Given the description of an element on the screen output the (x, y) to click on. 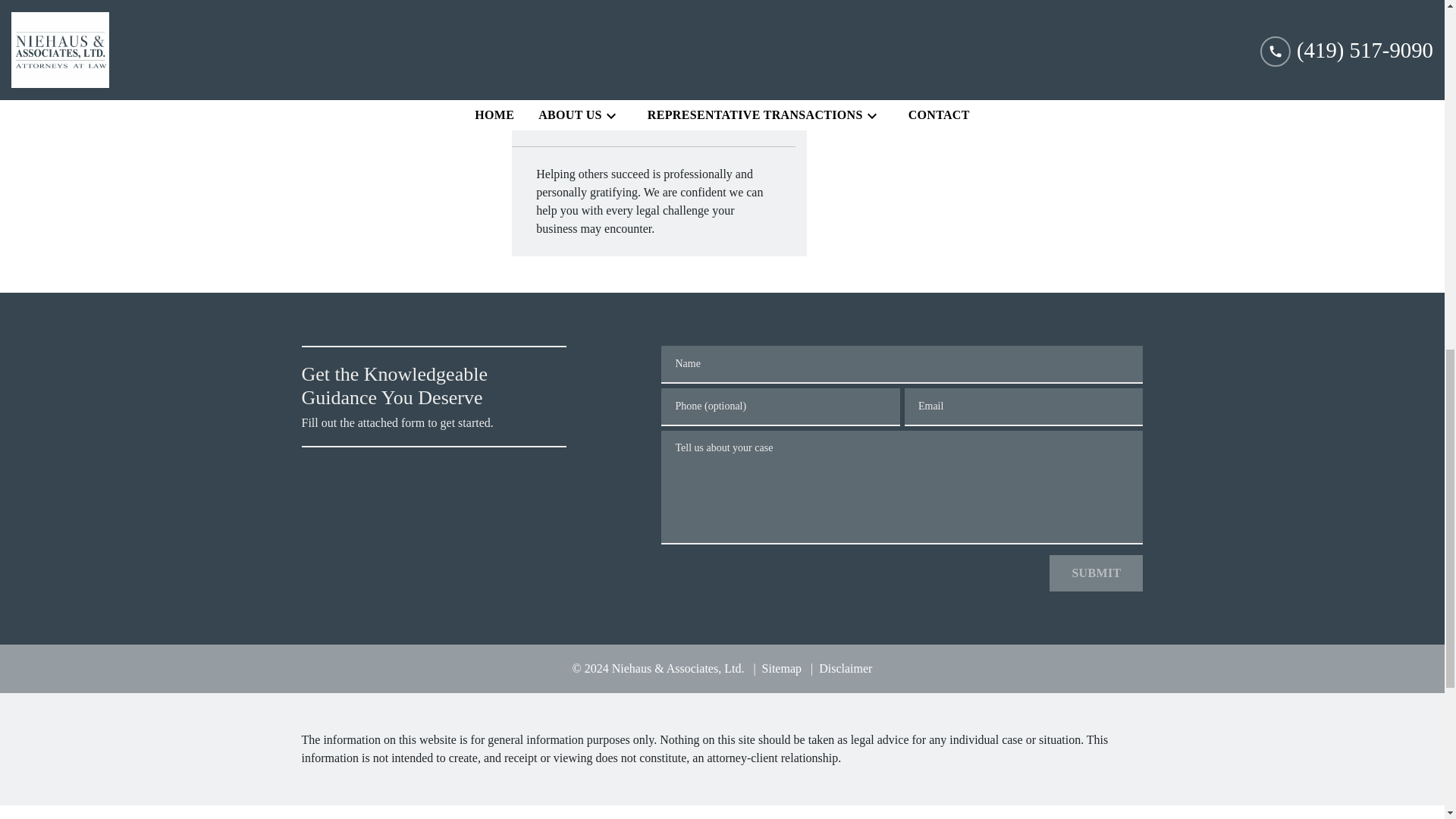
Sitemap (777, 667)
Disclaimer (841, 667)
SUBMIT (1095, 573)
